Given the description of an element on the screen output the (x, y) to click on. 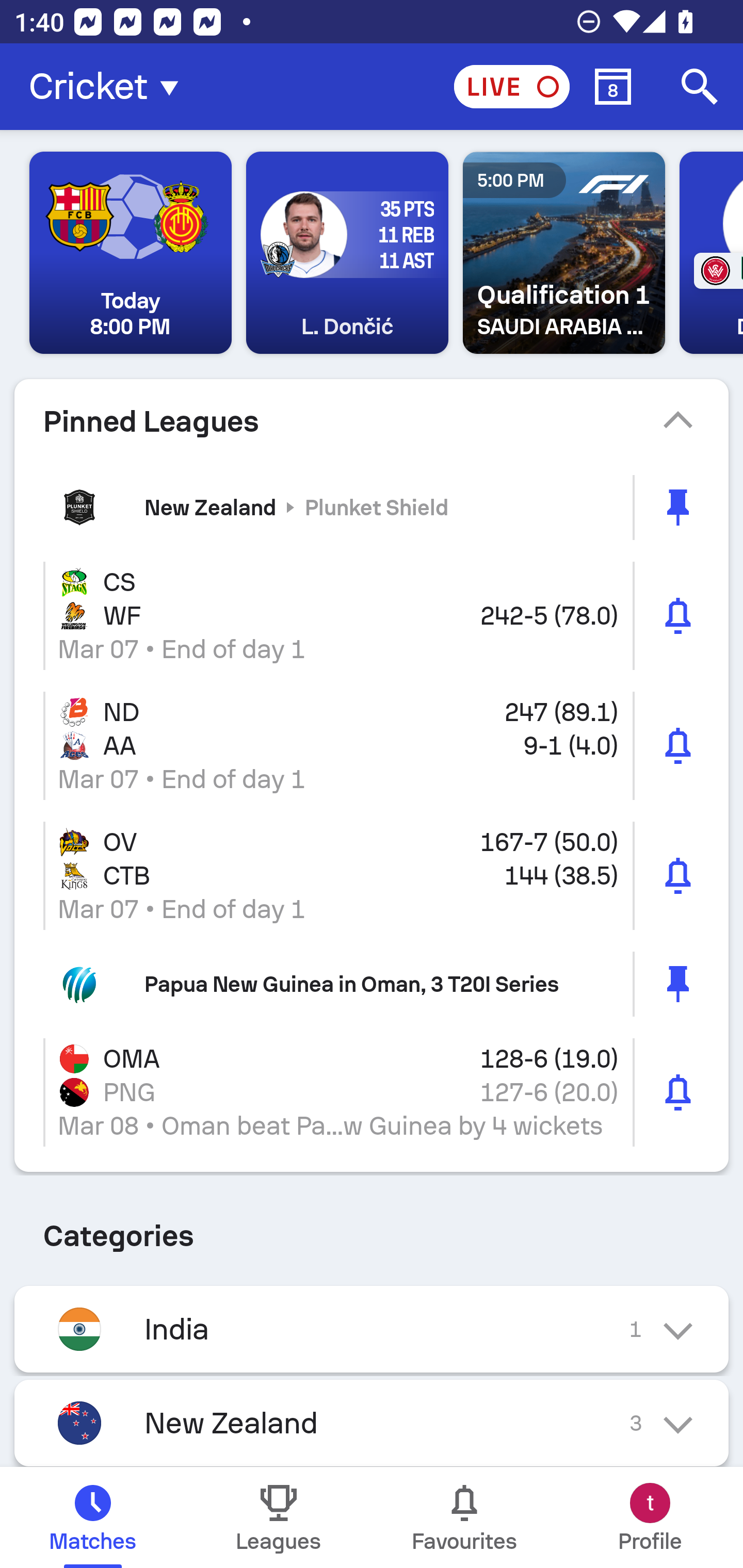
Cricket (109, 86)
Calendar (612, 86)
Search (699, 86)
Today
8:00 PM (130, 253)
35 PTS
11 REB
11 AST L. Dončić (346, 253)
Pinned Leagues (371, 421)
New Zealand Plunket Shield (371, 507)
CS WF 242-5 (78.0) Mar 07 • End of day 1 (371, 615)
ND 247 (89.1) AA 9-1 (4.0) Mar 07 • End of day 1 (371, 745)
Papua New Guinea in Oman, 3 T20I Series (371, 983)
Categories (371, 1229)
India 1 (371, 1328)
New Zealand 3 (371, 1422)
Leagues (278, 1517)
Favourites (464, 1517)
Profile (650, 1517)
